Given the description of an element on the screen output the (x, y) to click on. 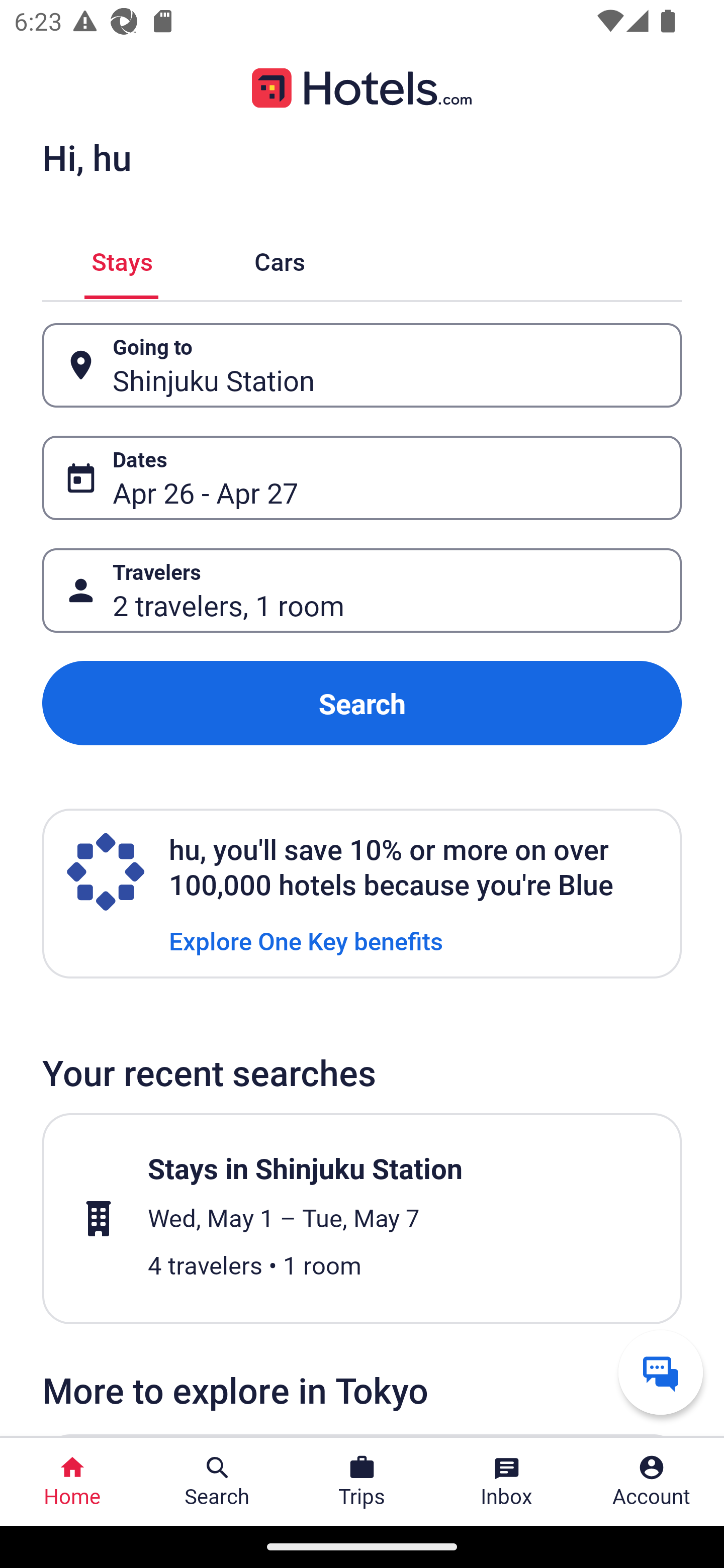
Hi, hu (86, 156)
Cars (279, 259)
Going to Button Shinjuku Station (361, 365)
Dates Button Apr 26 - Apr 27 (361, 477)
Travelers Button 2 travelers, 1 room (361, 590)
Search (361, 702)
Get help from a virtual agent (660, 1371)
Search Search Button (216, 1481)
Trips Trips Button (361, 1481)
Inbox Inbox Button (506, 1481)
Account Profile. Button (651, 1481)
